Given the description of an element on the screen output the (x, y) to click on. 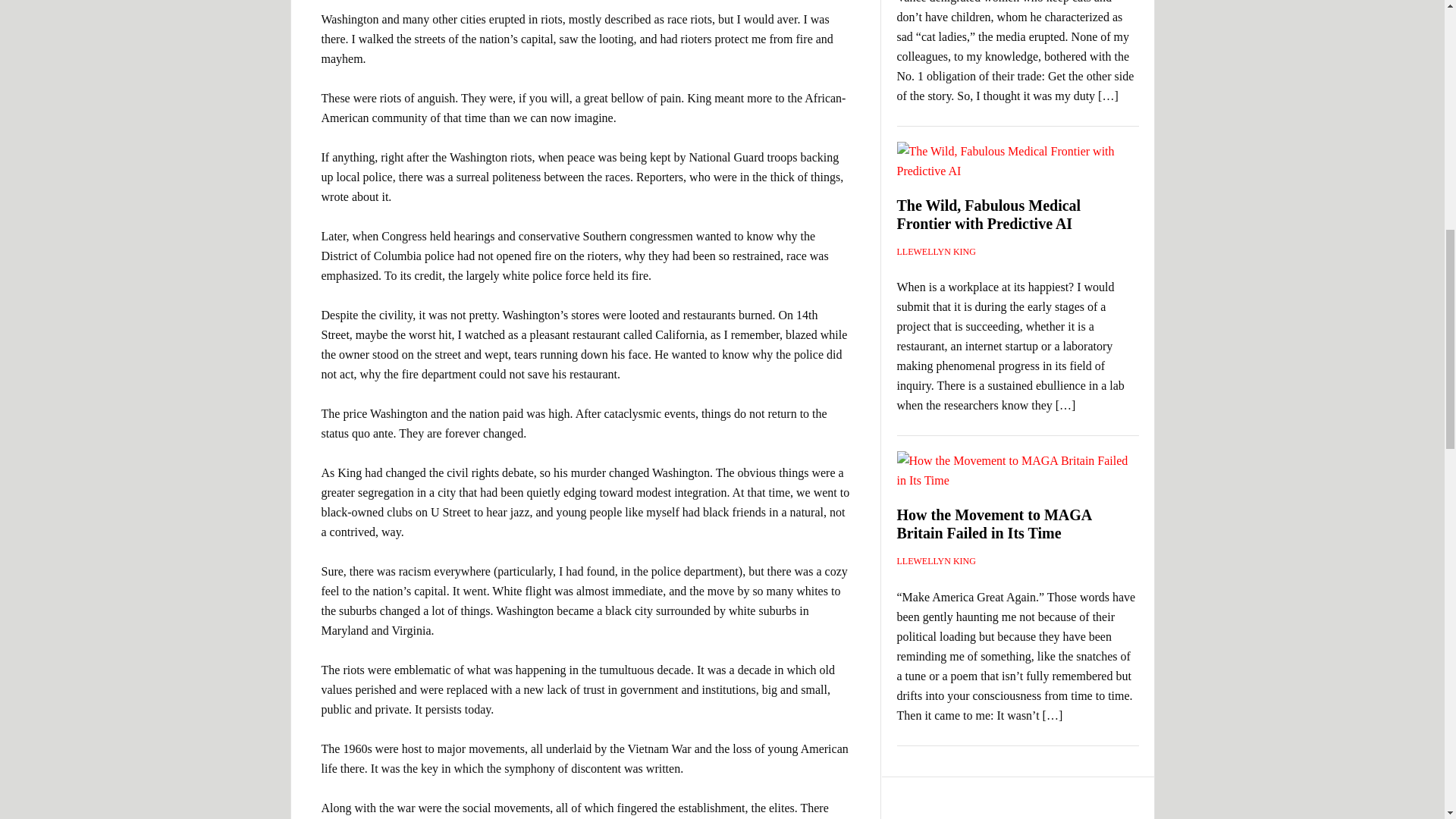
LLEWELLYN KING (935, 561)
LLEWELLYN KING (935, 251)
How the Movement to MAGA Britain Failed in Its Time (993, 523)
The Wild, Fabulous Medical Frontier with Predictive AI (988, 214)
